Given the description of an element on the screen output the (x, y) to click on. 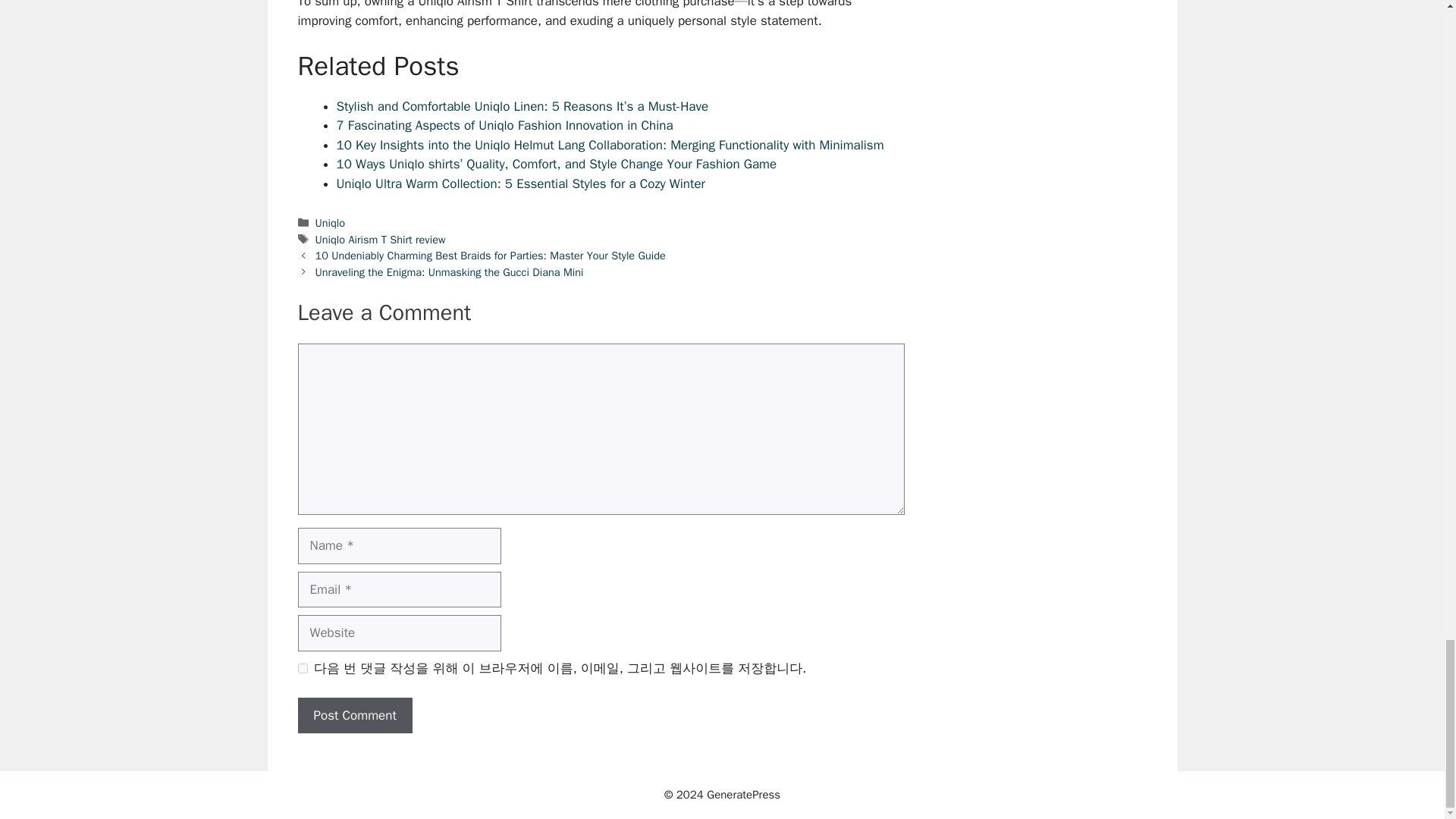
yes (302, 668)
Uniqlo (330, 223)
Uniqlo Airism T Shirt review (380, 239)
Unraveling the Enigma: Unmasking the Gucci Diana Mini (449, 272)
Post Comment (354, 715)
Post Comment (354, 715)
7 Fascinating Aspects of Uniqlo Fashion Innovation in China (504, 125)
